Given the description of an element on the screen output the (x, y) to click on. 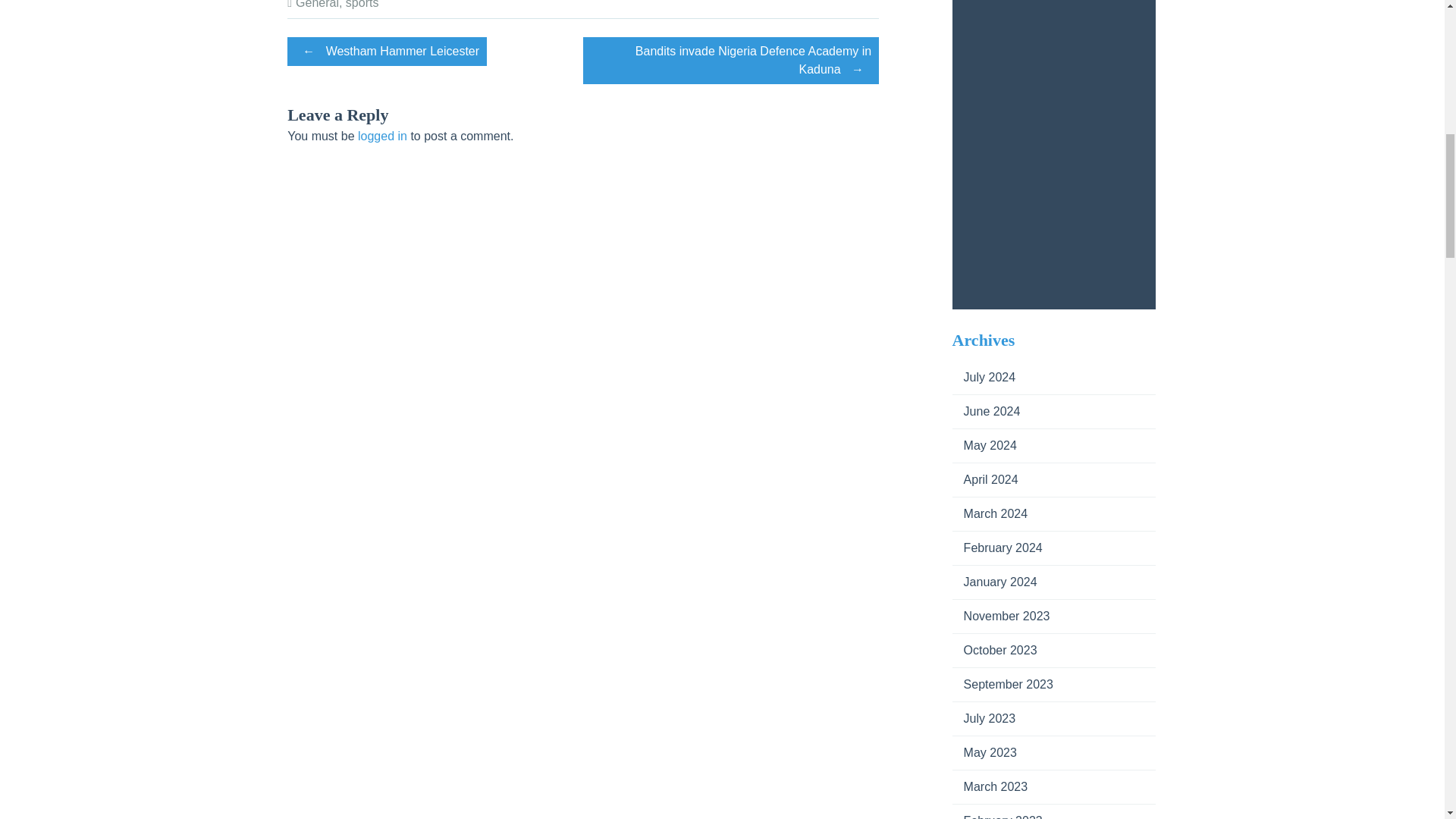
September 2023 (1002, 684)
May 2023 (984, 752)
General (317, 4)
May 2024 (984, 445)
April 2024 (984, 479)
January 2024 (994, 581)
February 2024 (997, 547)
logged in (382, 135)
November 2023 (1000, 615)
March 2024 (989, 513)
October 2023 (994, 649)
sports (362, 4)
July 2024 (984, 377)
July 2023 (984, 717)
June 2024 (986, 410)
